Given the description of an element on the screen output the (x, y) to click on. 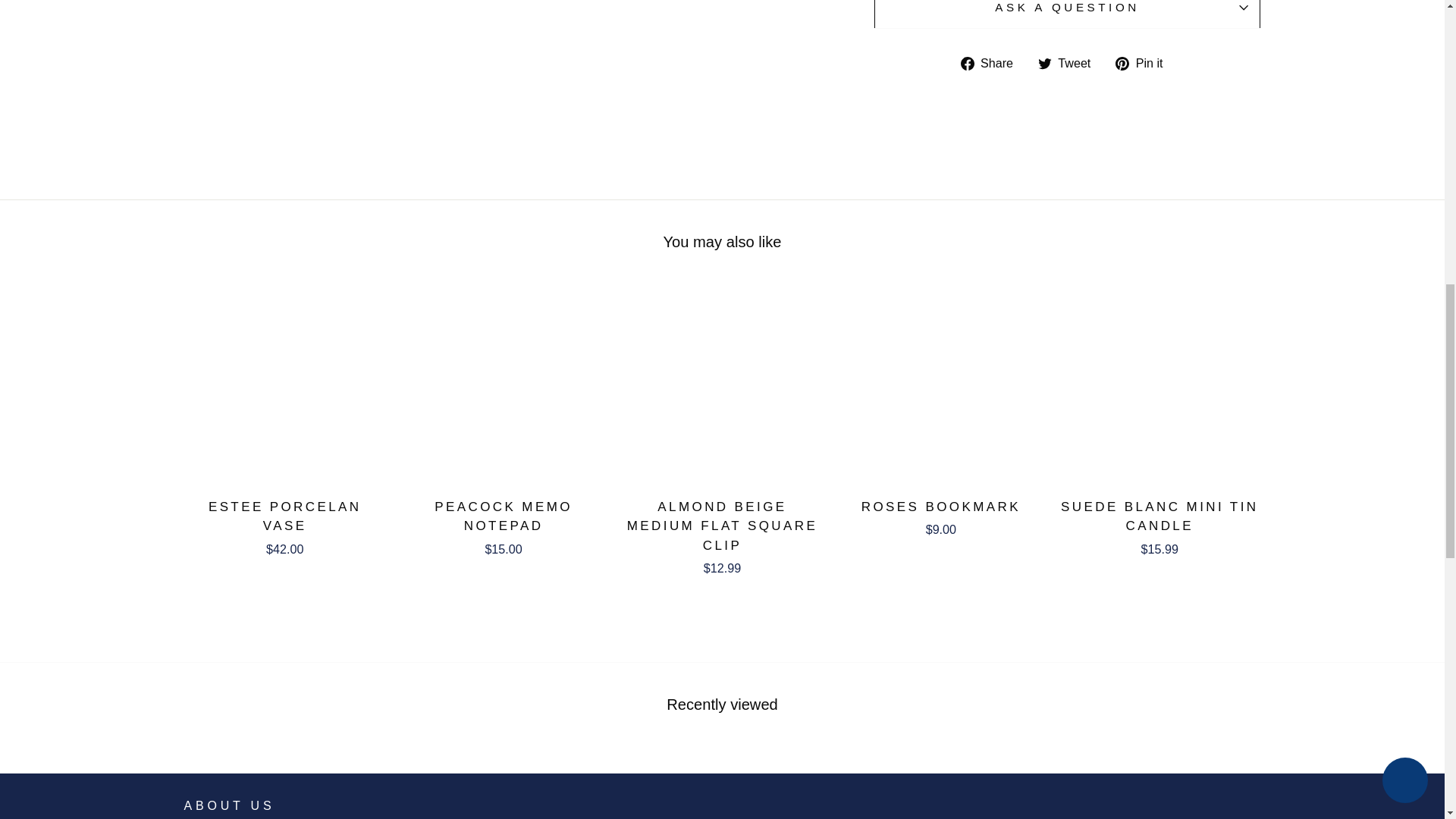
twitter (1044, 63)
Tweet on Twitter (1070, 62)
Share on Facebook (992, 62)
Pin on Pinterest (1144, 62)
